Given the description of an element on the screen output the (x, y) to click on. 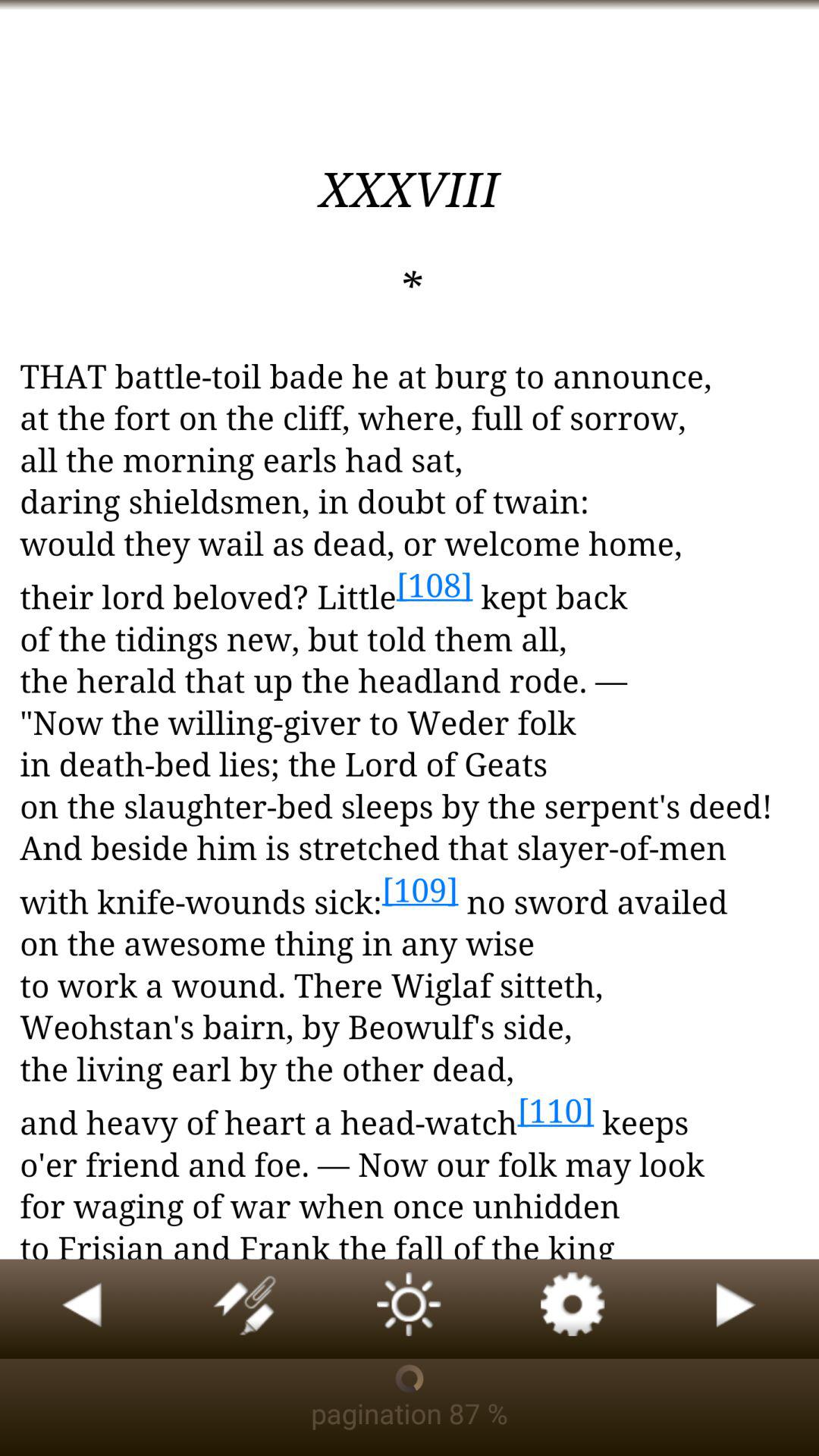
go to next page (737, 1308)
